Given the description of an element on the screen output the (x, y) to click on. 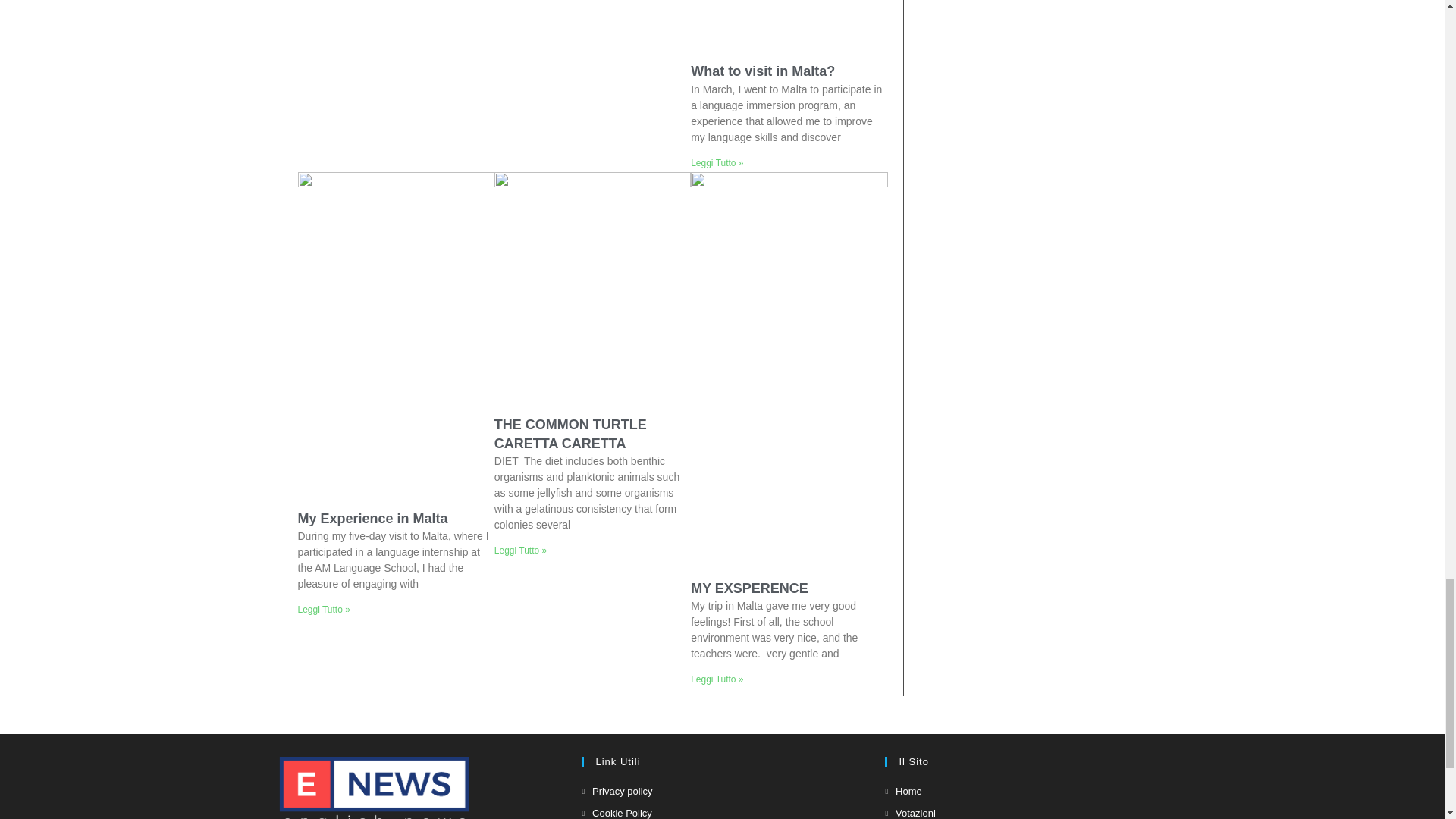
My Experience in Malta (371, 518)
What to visit in Malta? (762, 70)
MY EXSPERENCE (749, 588)
THE COMMON TURTLE CARETTA CARETTA (570, 433)
